Given the description of an element on the screen output the (x, y) to click on. 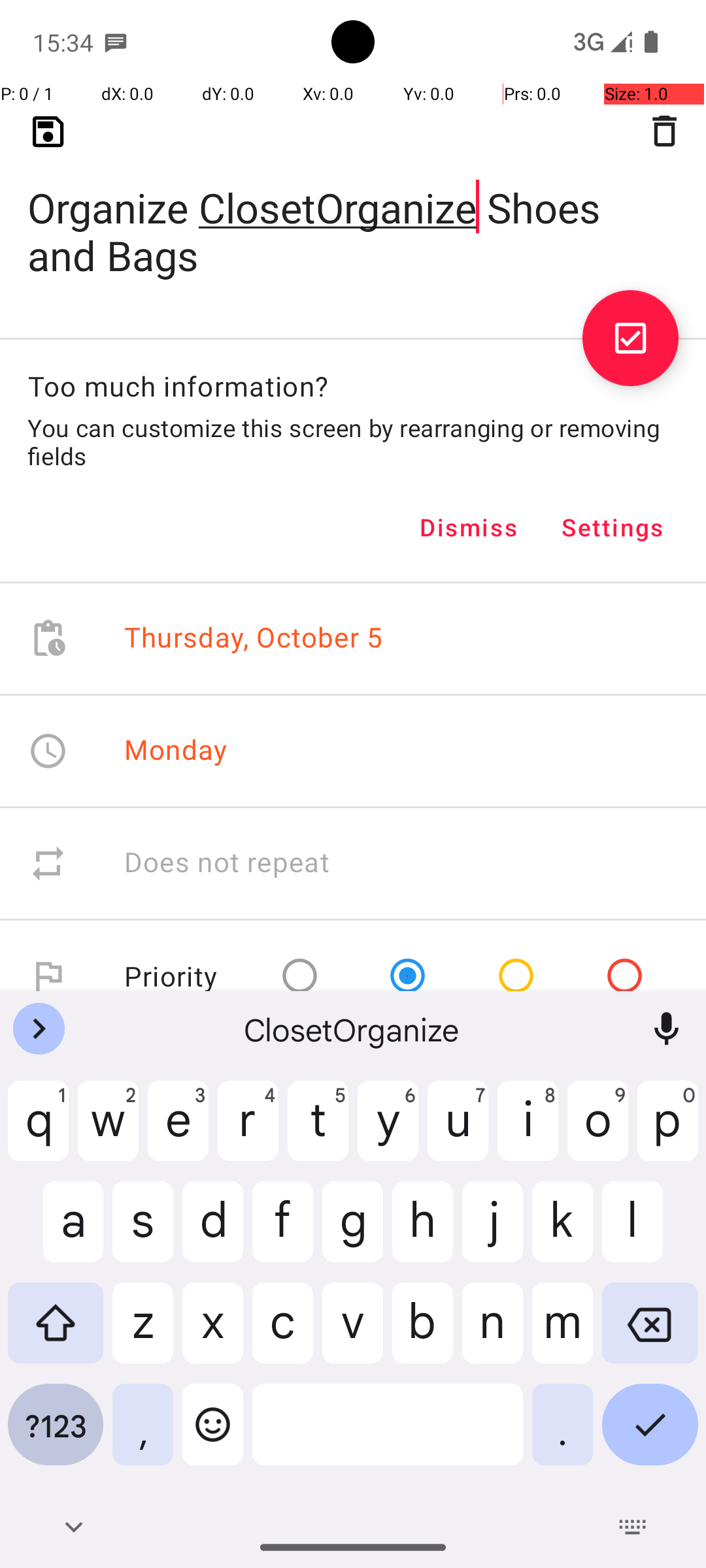
Organize ClosetOrganize Shoes and Bags Element type: android.widget.EditText (353, 210)
Delete task Element type: android.widget.Button (664, 131)
Too much information? Element type: android.widget.TextView (178, 385)
You can customize this screen by rearranging or removing fields Element type: android.widget.TextView (352, 441)
Dismiss Element type: android.widget.TextView (468, 526)
Thursday, October 5 Element type: android.widget.TextView (253, 638)
Does not repeat Element type: android.widget.TextView (226, 862)
ClosetOrganize Element type: android.widget.FrameLayout (352, 1028)
